Given the description of an element on the screen output the (x, y) to click on. 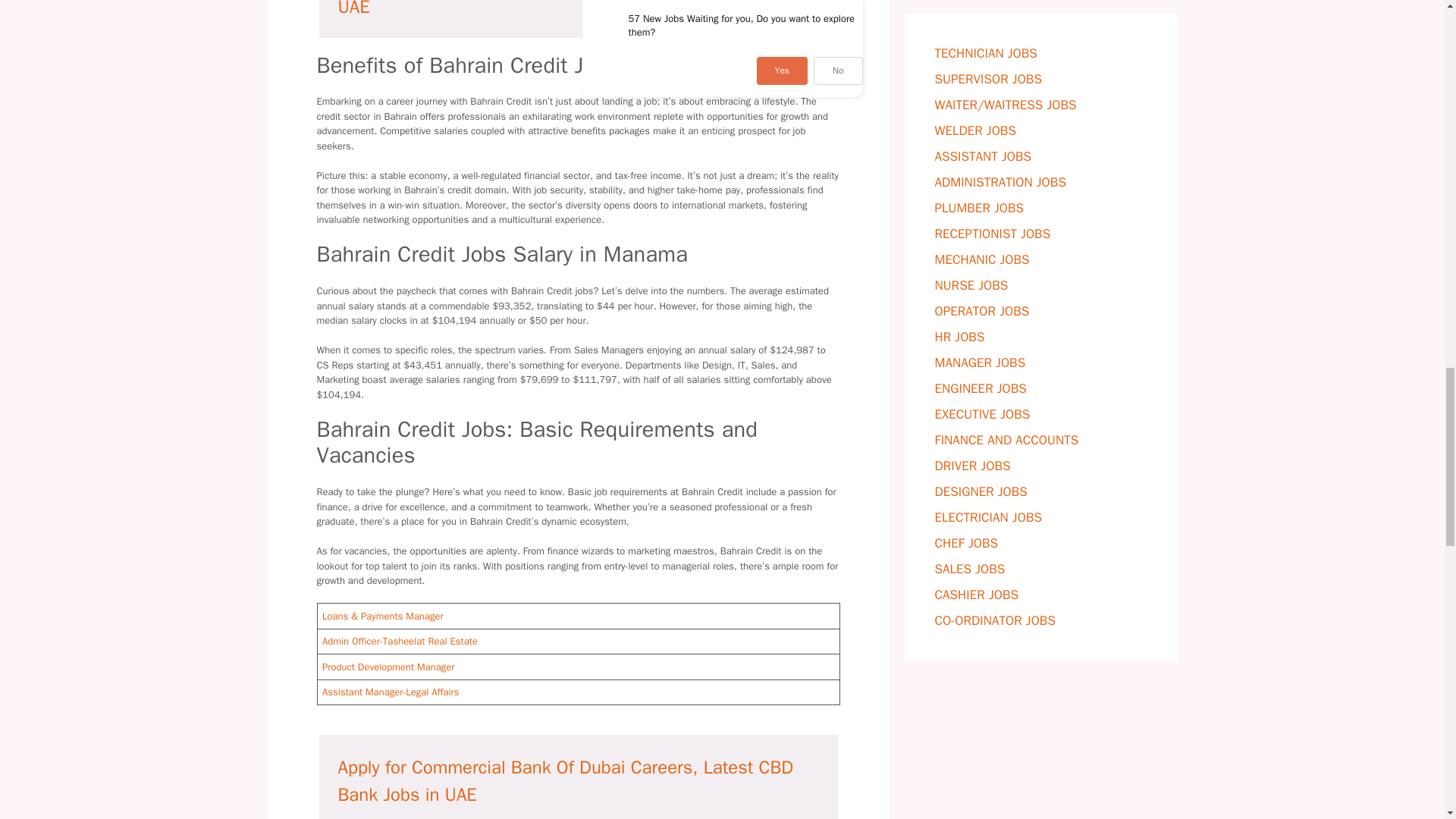
Admin Officer-Tasheelat Real Estate (399, 640)
Assistant Manager-Legal Affairs (390, 691)
Apply for HR Job Vacancies at DHL Dubai, Job Openings in UAE (569, 9)
Product Development Manager (387, 666)
